Given the description of an element on the screen output the (x, y) to click on. 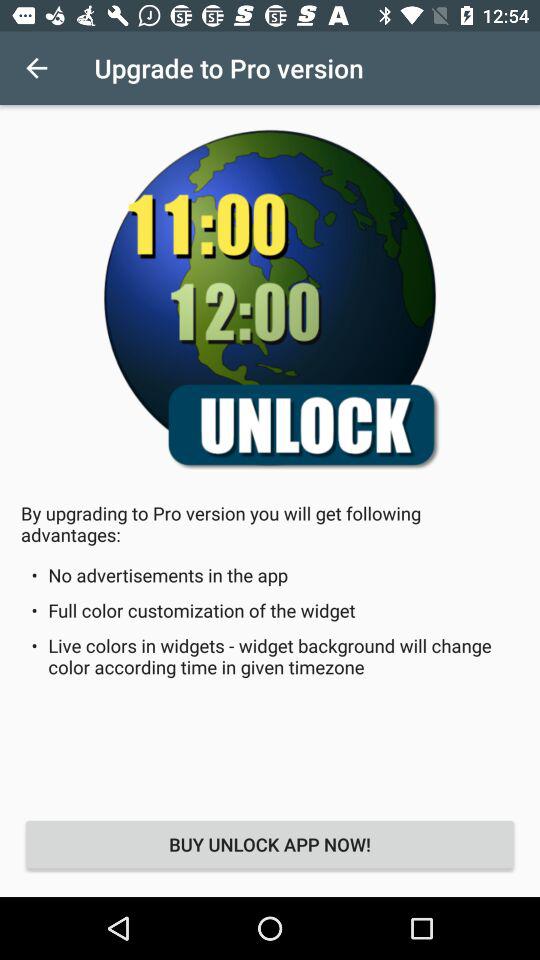
turn on icon next to upgrade to pro item (36, 68)
